Given the description of an element on the screen output the (x, y) to click on. 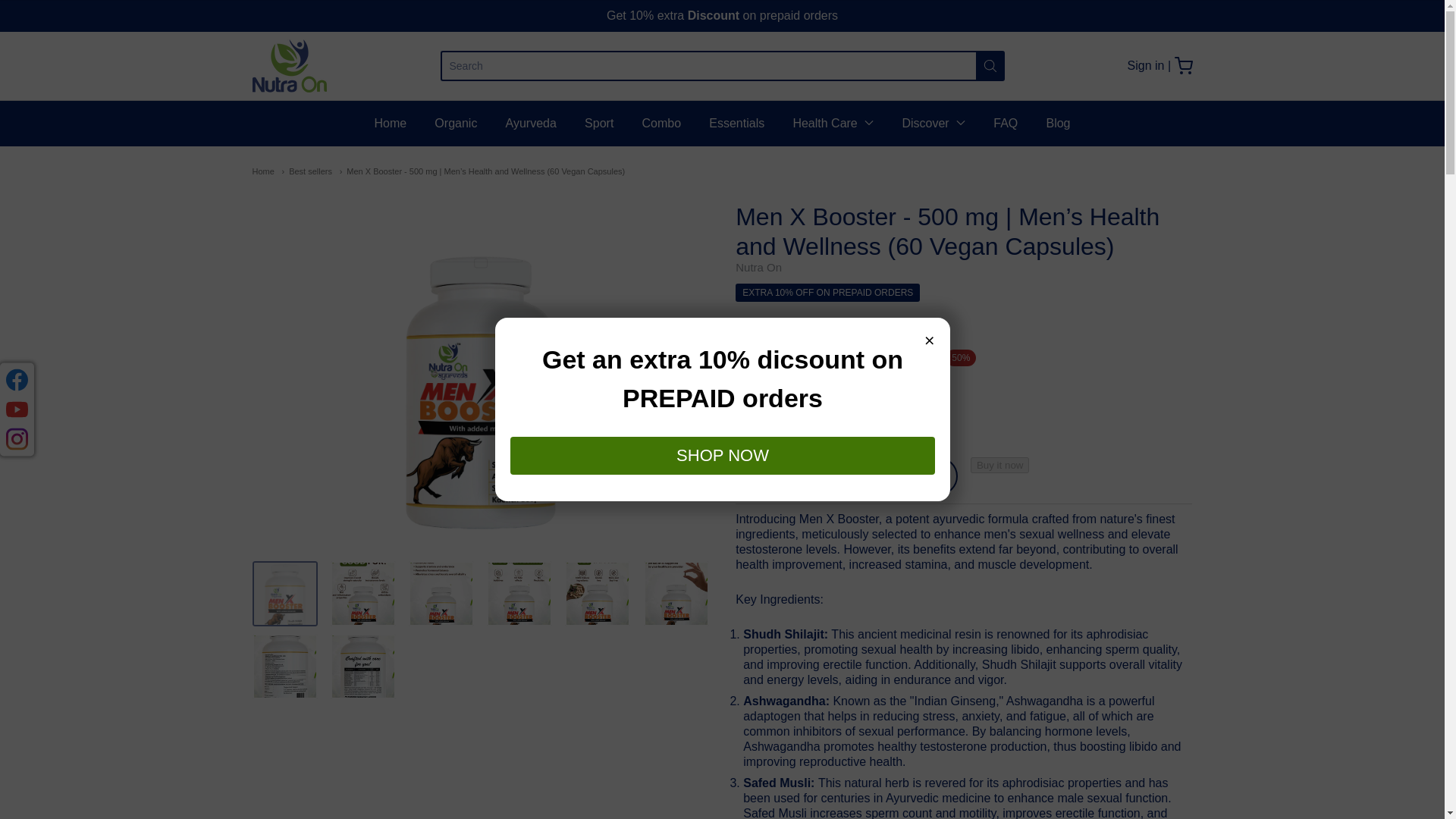
1 (791, 422)
Health Care (832, 123)
Combo (661, 123)
Best sellers (306, 171)
Organic (455, 123)
Home (390, 123)
Home (262, 171)
Essentials (736, 123)
Discover (933, 123)
Ayurveda (530, 123)
Sign in (1145, 65)
Nutra On  (288, 65)
Sport (598, 123)
